Given the description of an element on the screen output the (x, y) to click on. 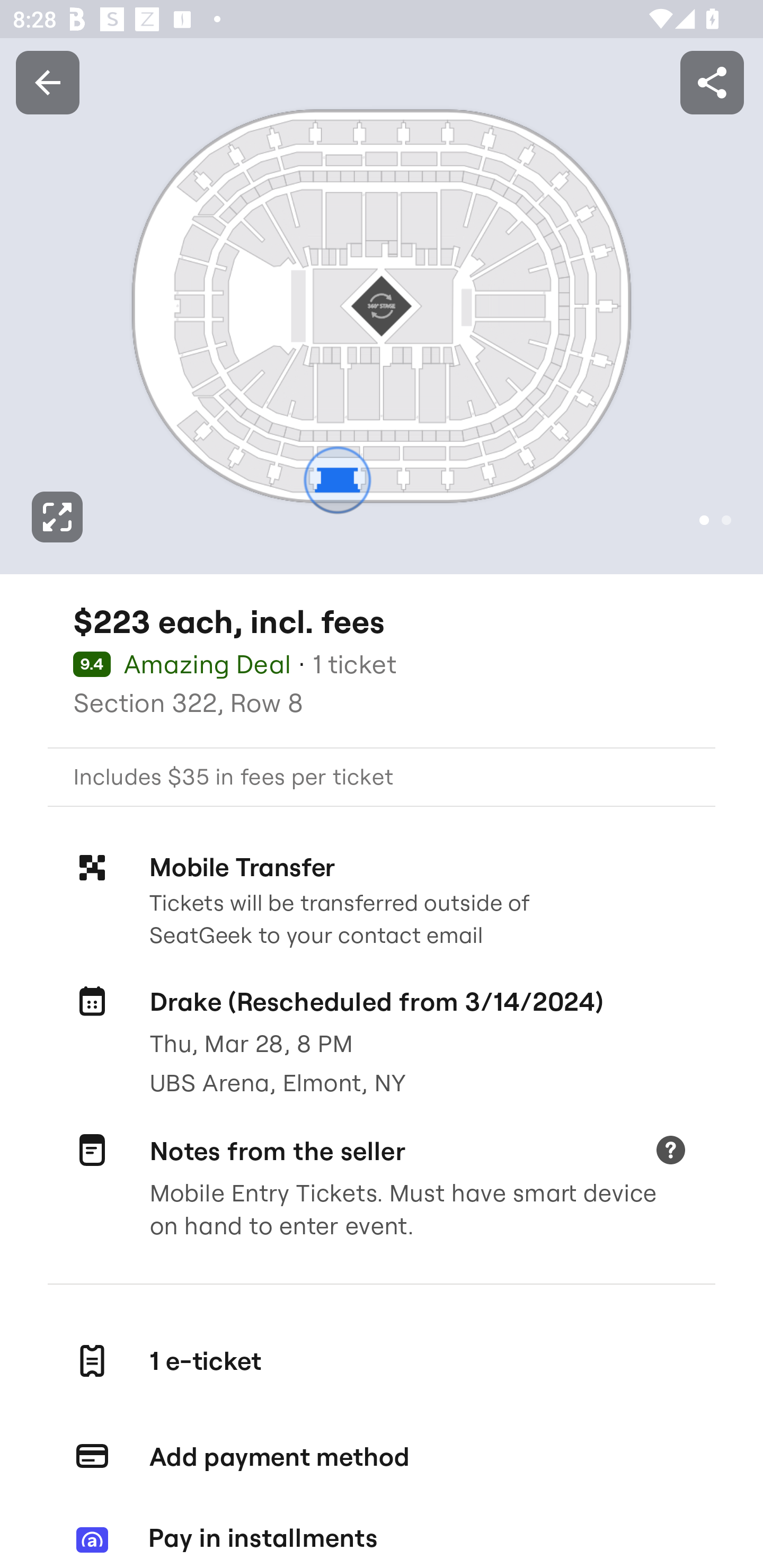
Back (47, 81)
Share (711, 81)
Expand image to fullscreen (57, 517)
Learn more (670, 1151)
1 e-ticket (381, 1360)
Add payment method (381, 1457)
